Given the description of an element on the screen output the (x, y) to click on. 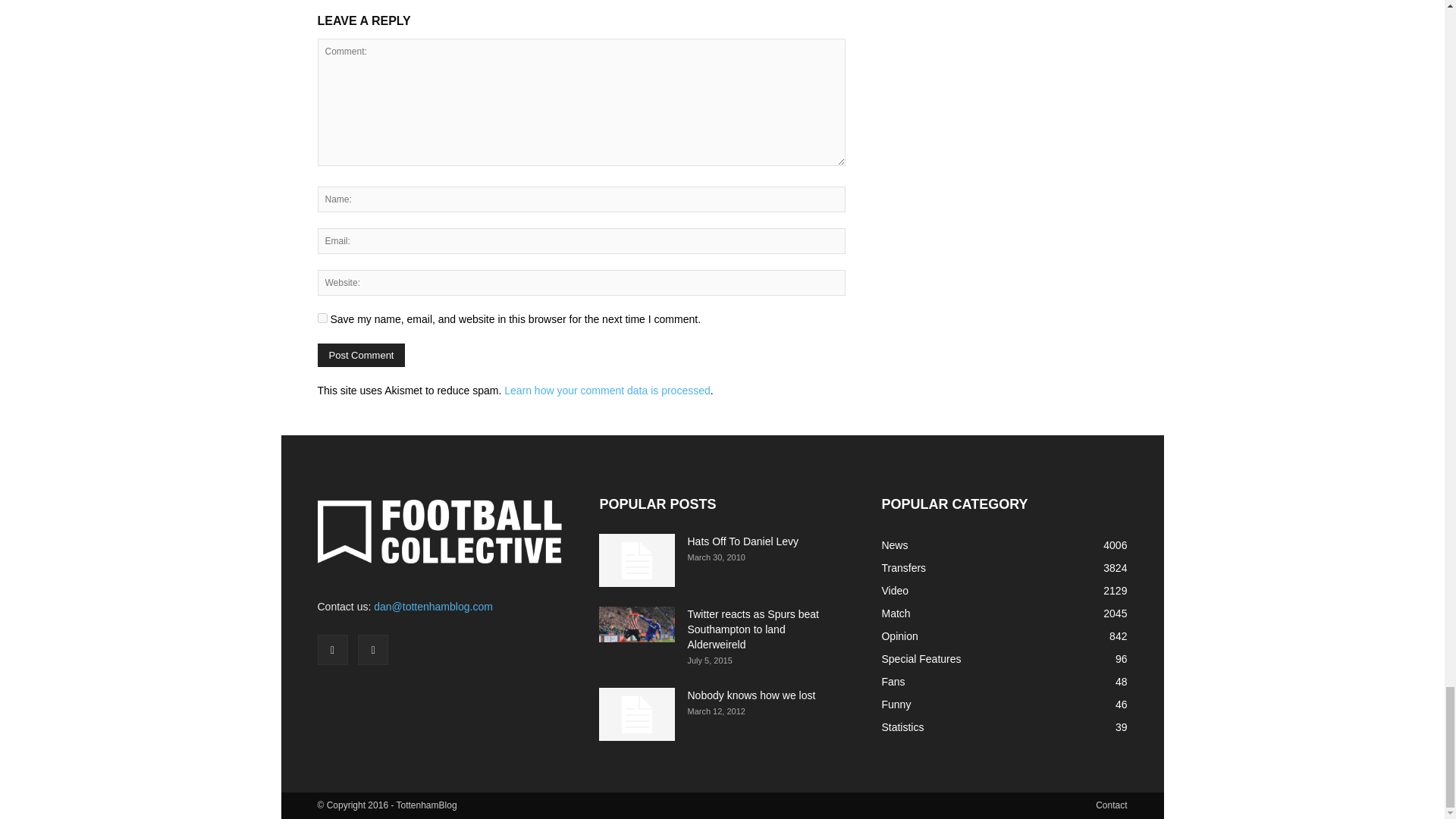
Post Comment (360, 354)
yes (321, 317)
